Given the description of an element on the screen output the (x, y) to click on. 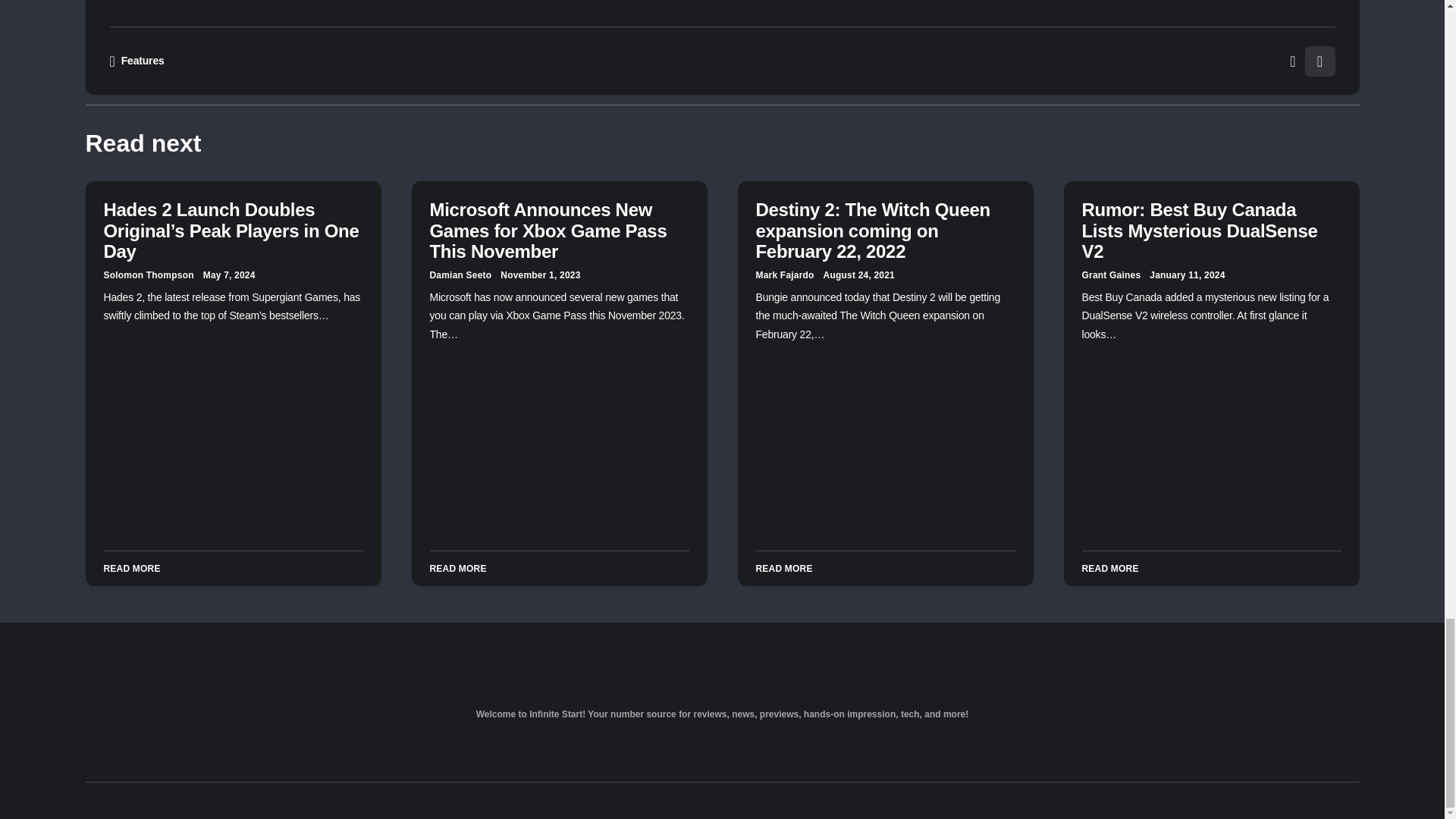
View all posts by Mark Fajardo (784, 274)
Post Comment (868, 25)
View all posts by Solomon Thompson (148, 274)
View all posts by Damian Seeto (460, 274)
View all posts by Grant Gaines (1110, 274)
